Given the description of an element on the screen output the (x, y) to click on. 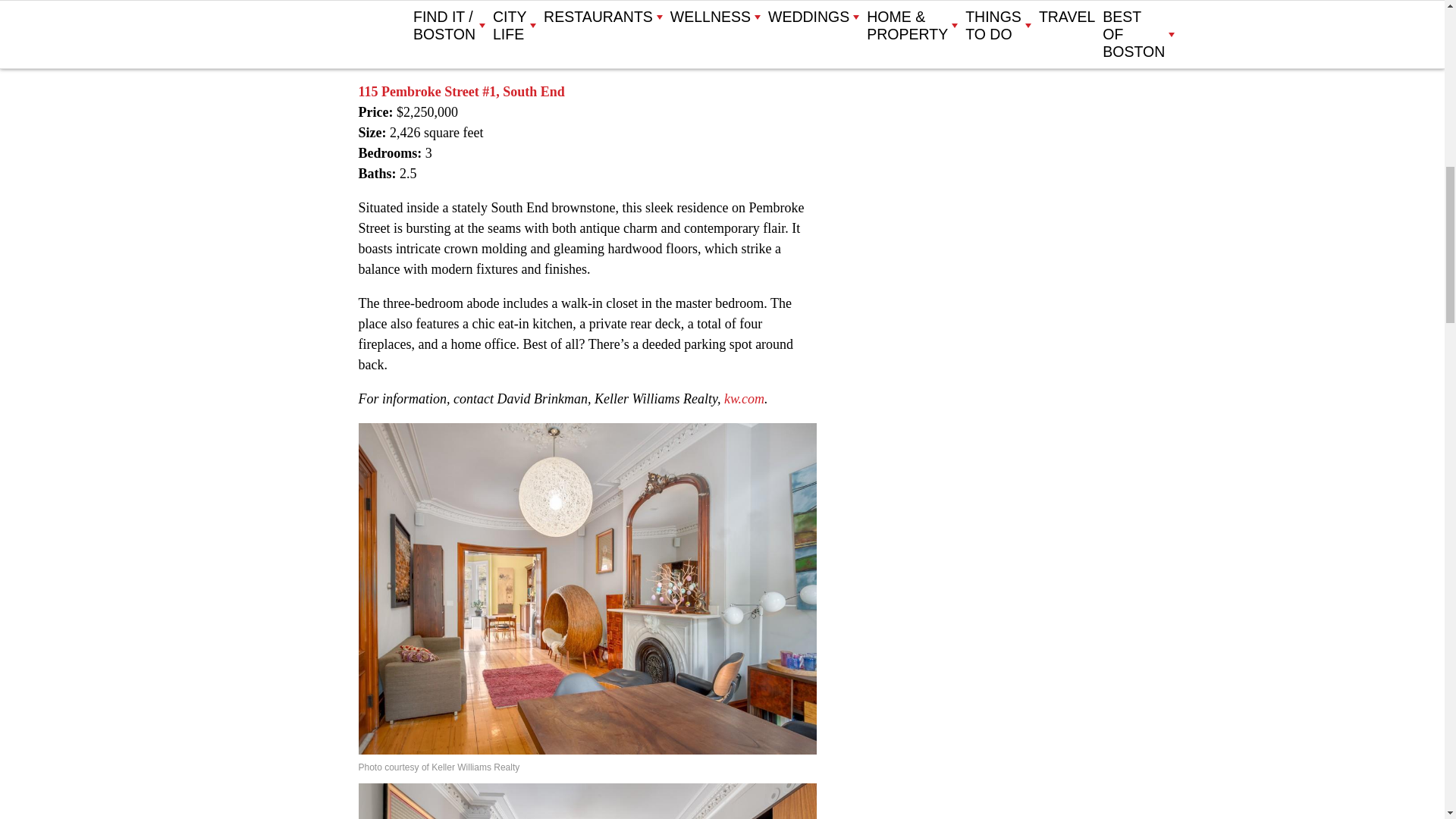
3rd party ad content (969, 106)
